Given the description of an element on the screen output the (x, y) to click on. 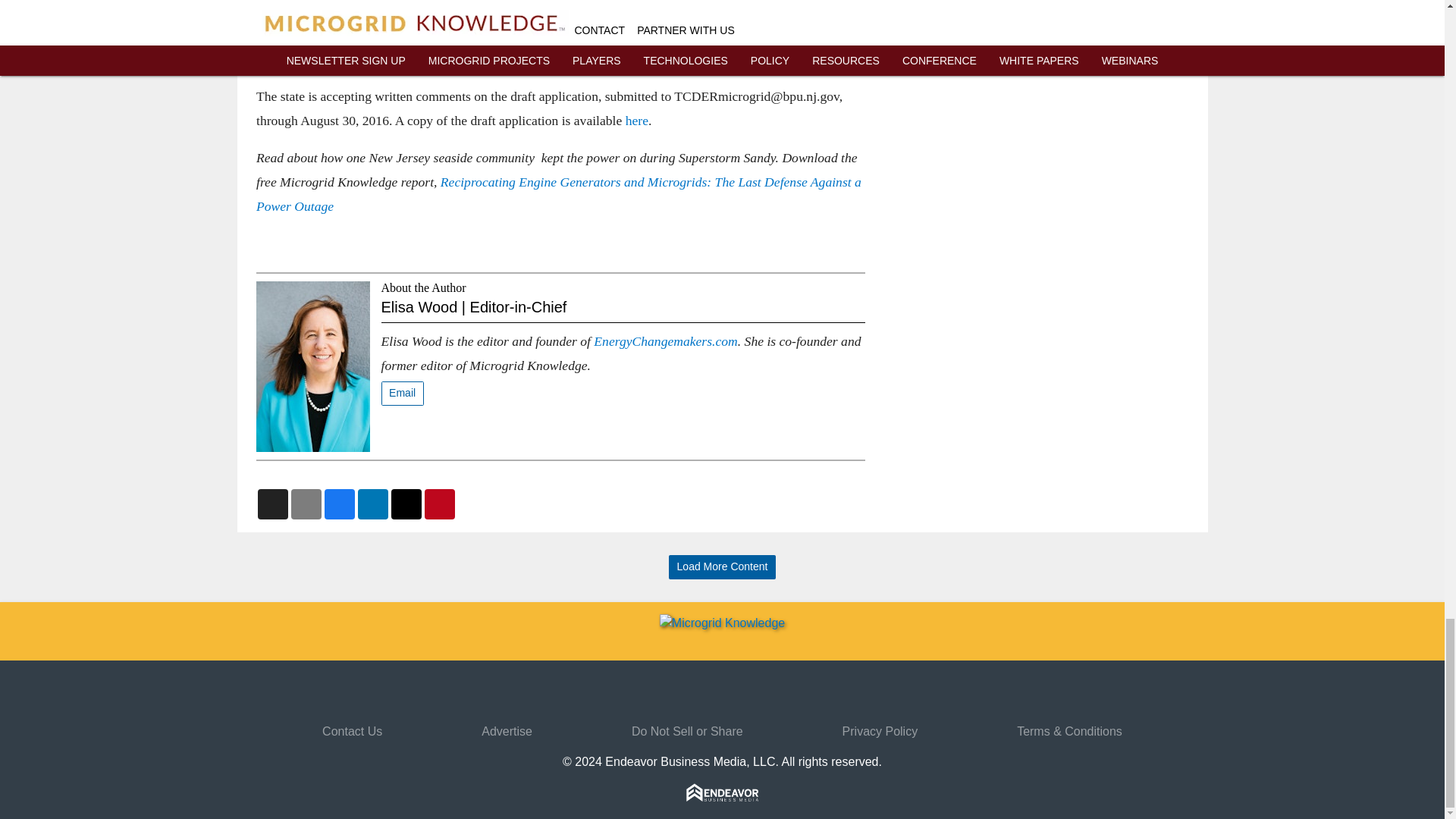
here (635, 120)
EnergyChangemakers.com (665, 340)
Email (401, 393)
